Given the description of an element on the screen output the (x, y) to click on. 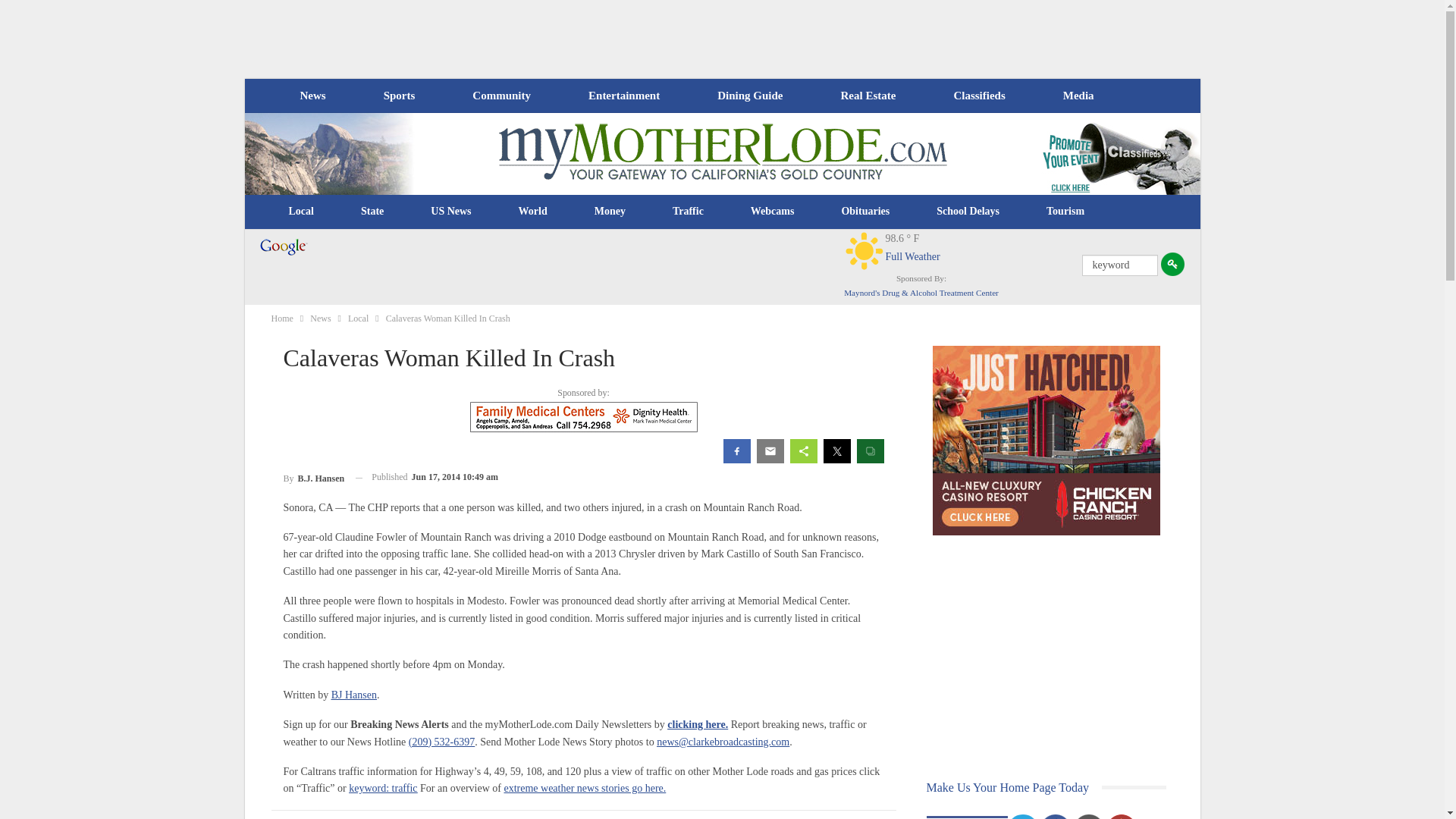
News (312, 95)
Classifieds (979, 95)
Dining Guide (749, 95)
Money (609, 211)
Media (1078, 95)
Webcams (772, 211)
Traffic (687, 211)
Submit (1172, 264)
Clear (864, 250)
Mark Twain Medical Center (583, 417)
Entertainment (624, 95)
Sports (399, 95)
Tourism (1065, 211)
